Given the description of an element on the screen output the (x, y) to click on. 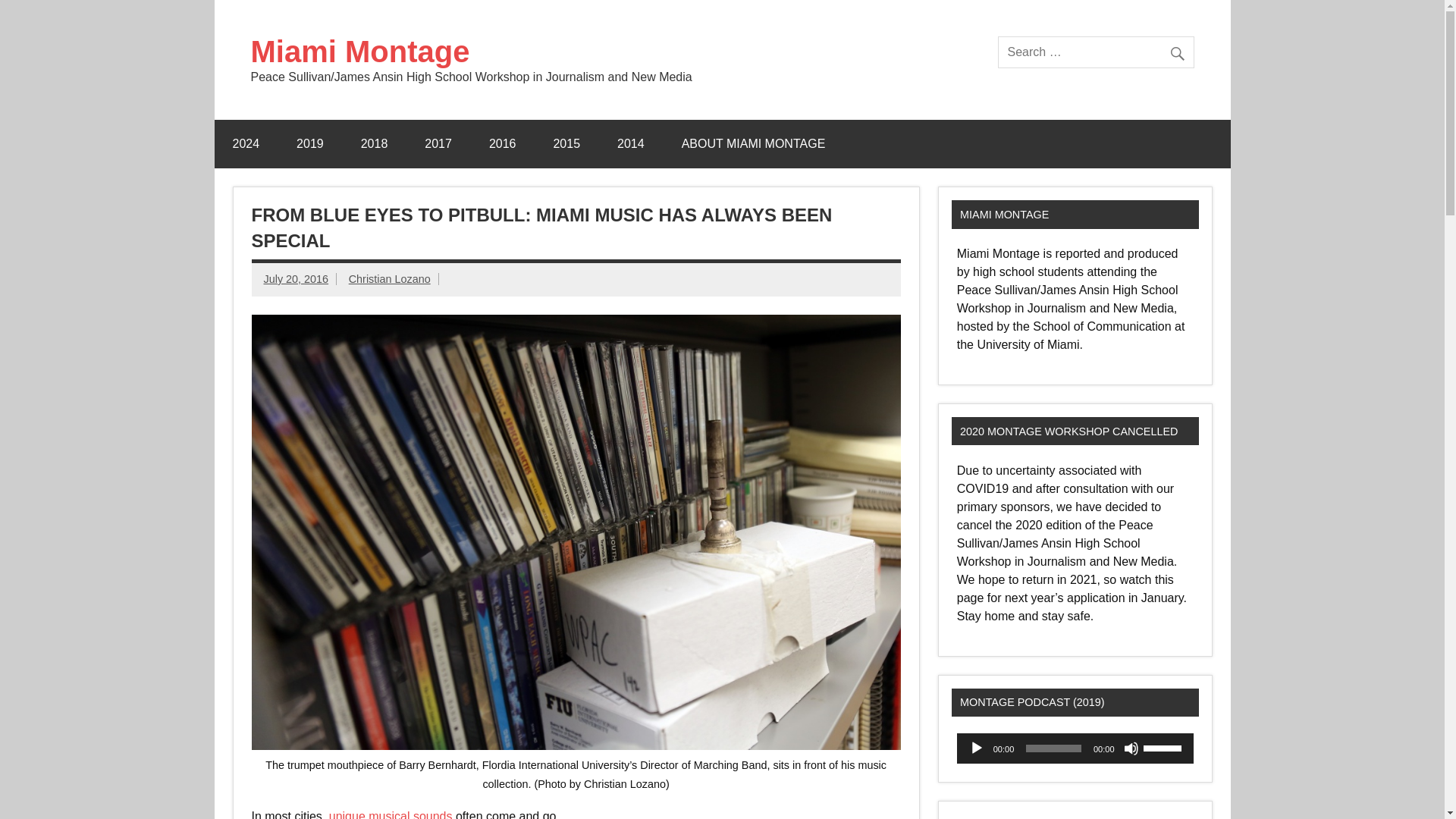
July 20, 2016 (296, 278)
Play (976, 748)
unique musical sounds (390, 814)
2019 (310, 143)
Mute (1131, 748)
View all posts by Christian Lozano (389, 278)
5:51 pm (296, 278)
Christian Lozano (389, 278)
2016 (502, 143)
2017 (438, 143)
2018 (374, 143)
Miami Montage (359, 51)
ABOUT MIAMI MONTAGE (753, 143)
2014 (630, 143)
2024 (246, 143)
